Given the description of an element on the screen output the (x, y) to click on. 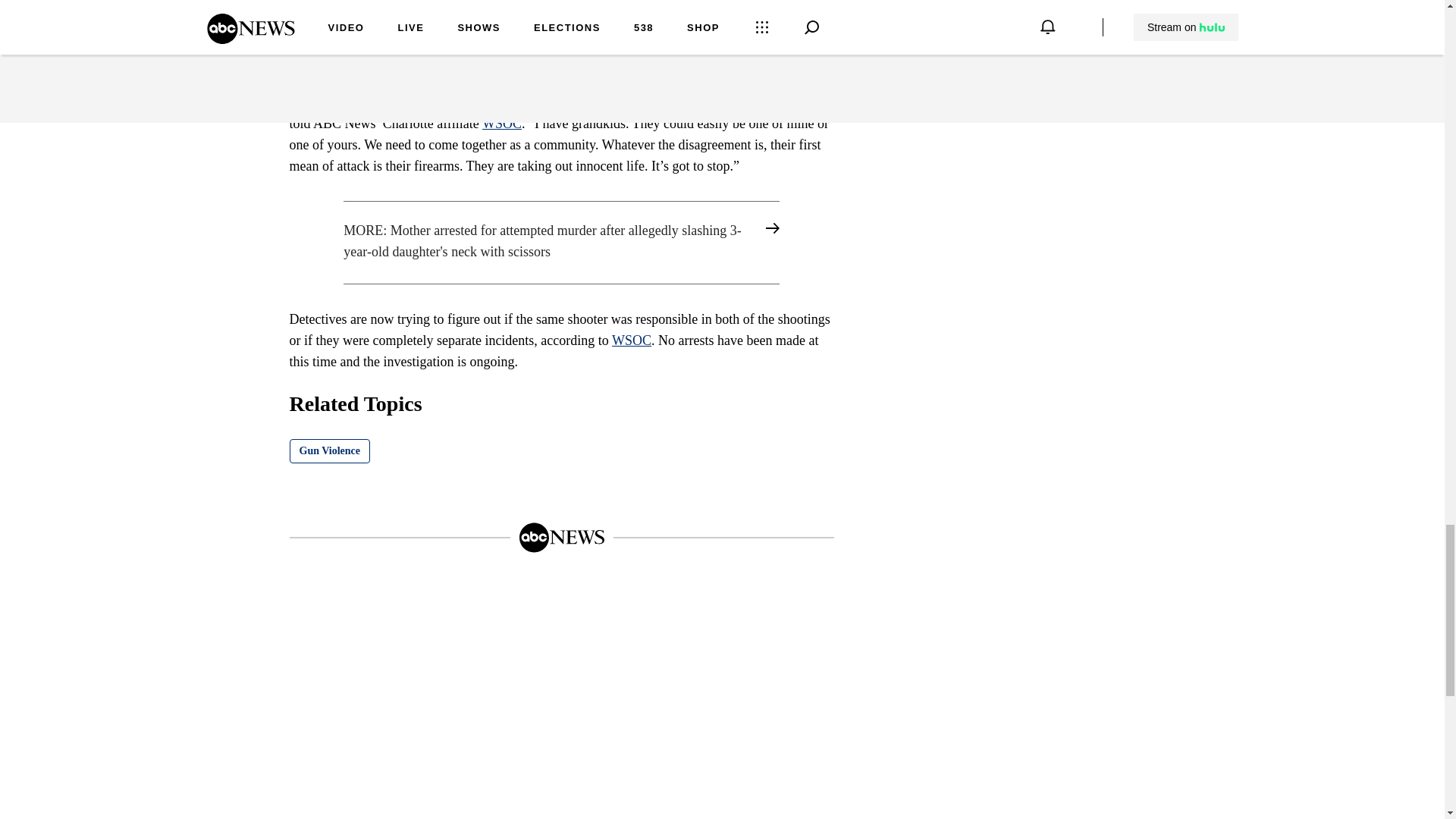
Gun Violence (330, 450)
WSOC (501, 123)
WSOC (630, 340)
